Given the description of an element on the screen output the (x, y) to click on. 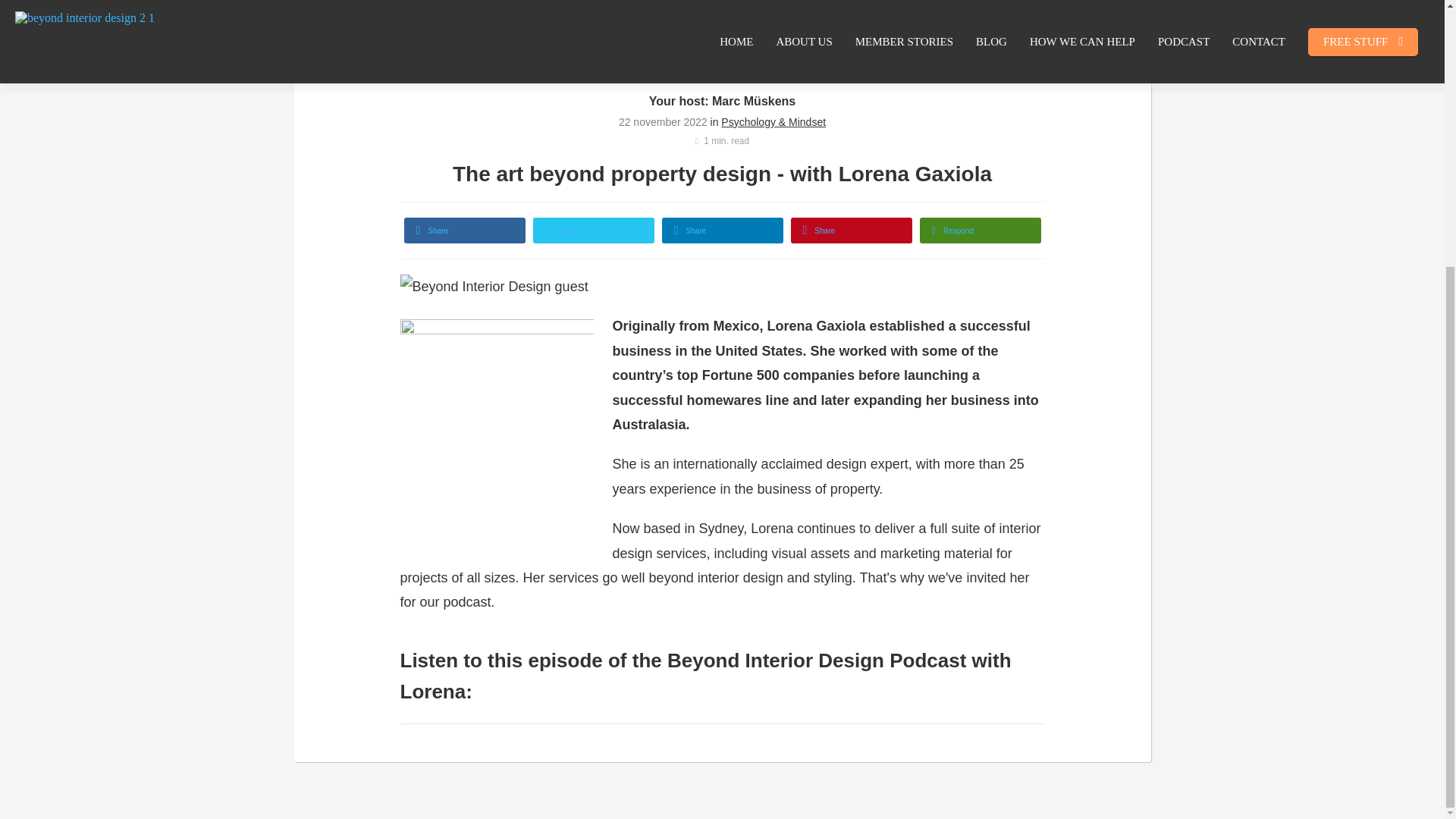
Share (850, 230)
Beyond Interior Design guest (494, 286)
Respond (979, 230)
Share (463, 230)
Share (592, 230)
Share (722, 230)
